Given the description of an element on the screen output the (x, y) to click on. 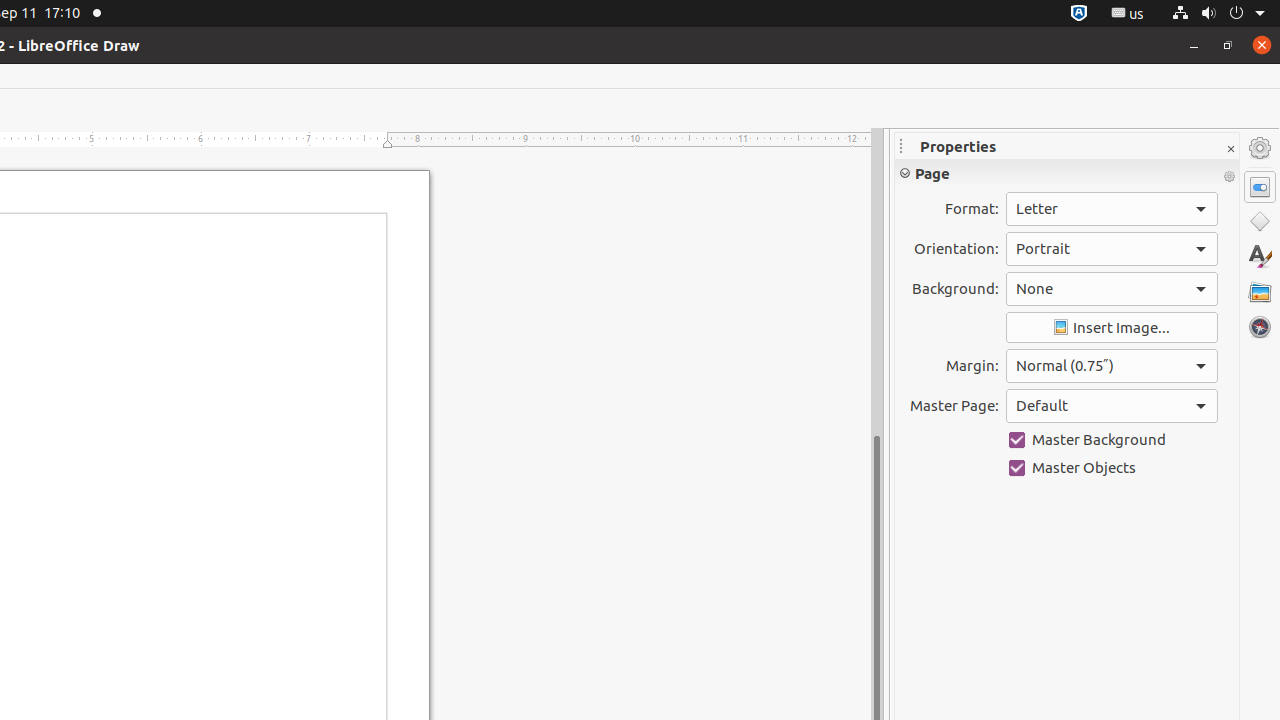
More Options Element type: push-button (1229, 177)
:1.72/StatusNotifierItem Element type: menu (1079, 13)
Properties Element type: radio-button (1260, 187)
Navigator Element type: radio-button (1260, 327)
Insert Image Element type: push-button (1112, 327)
